Given the description of an element on the screen output the (x, y) to click on. 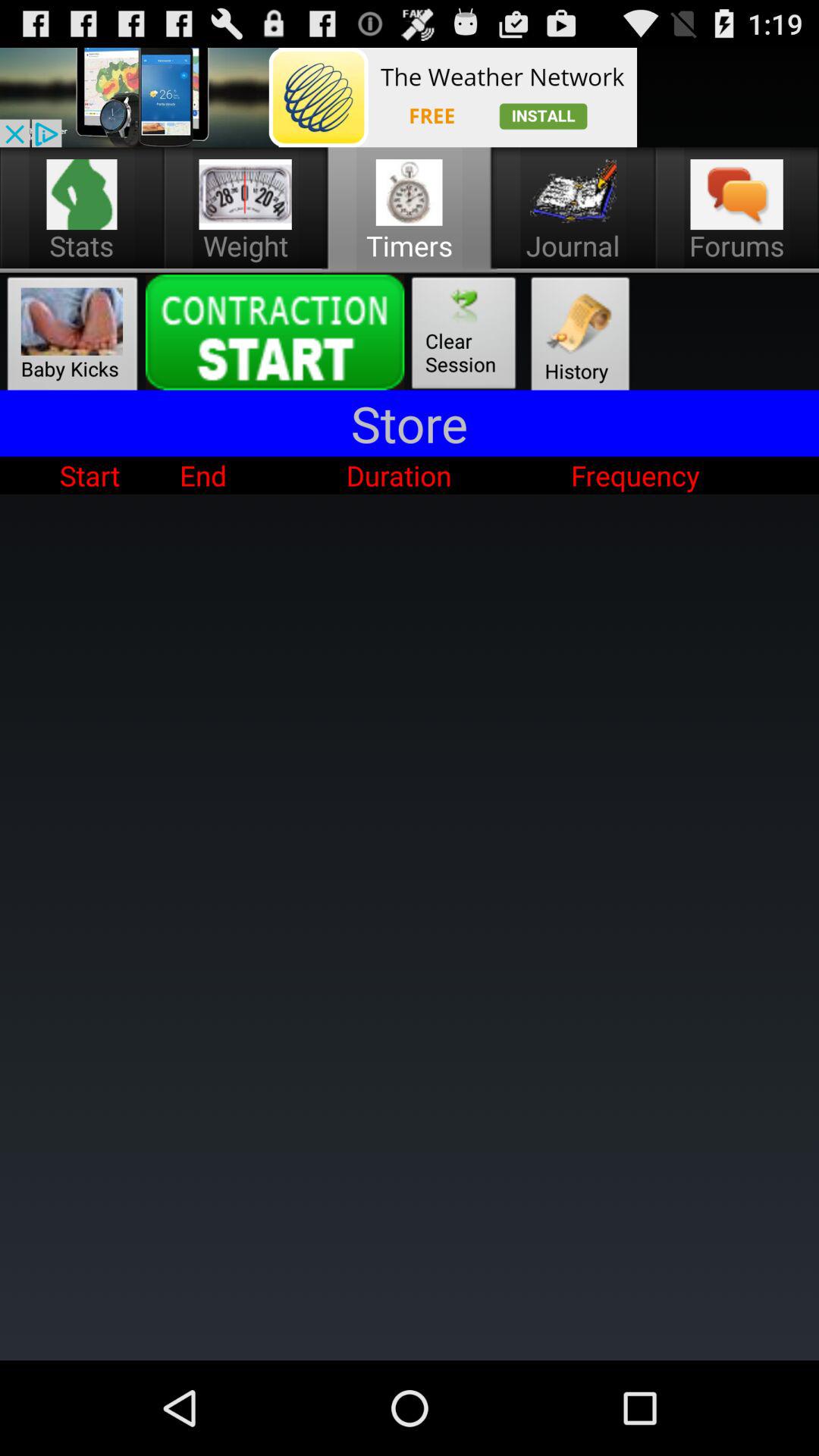
advertisement link (318, 97)
